Given the description of an element on the screen output the (x, y) to click on. 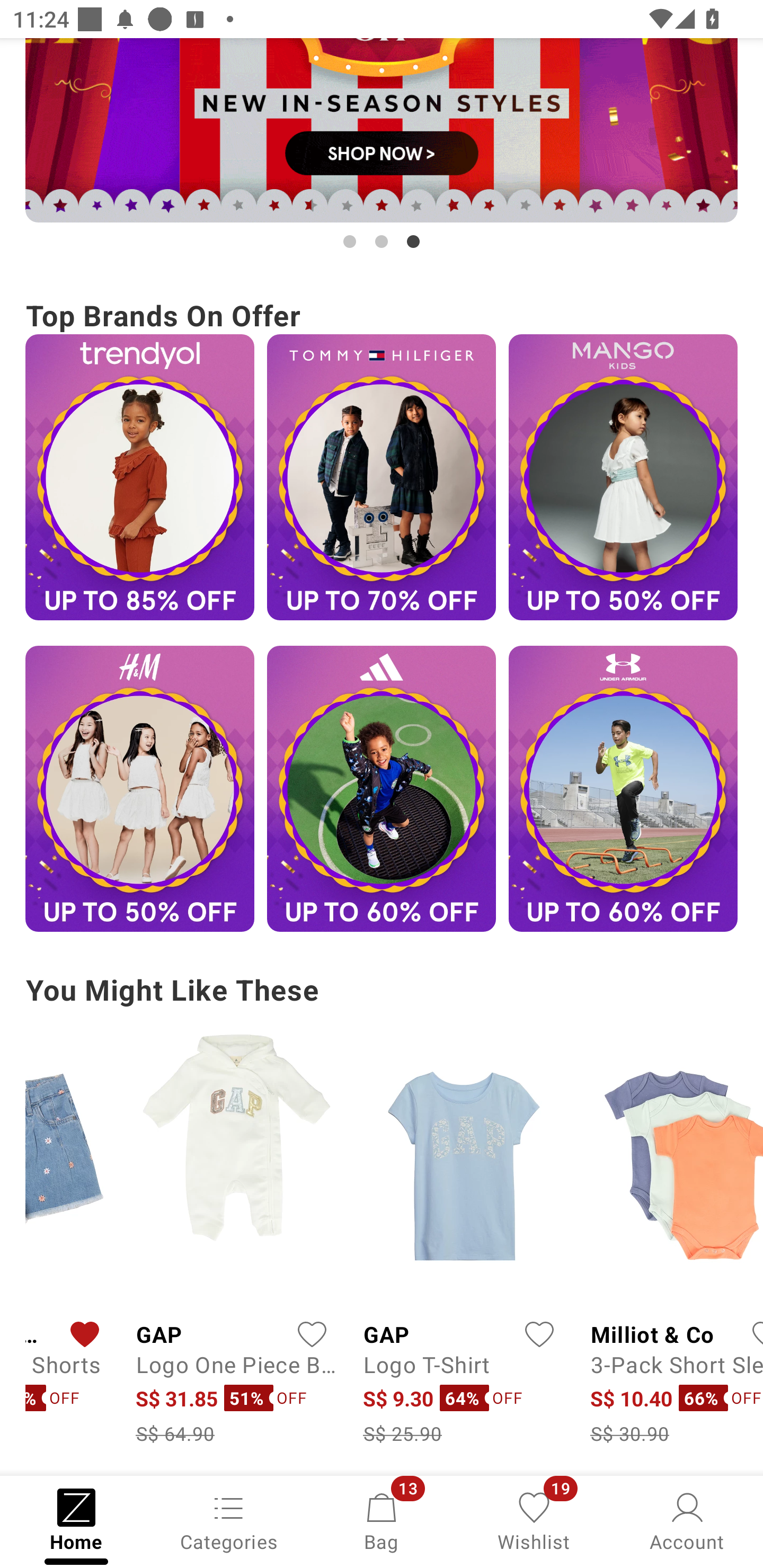
Campaign banner (381, 129)
Campaign banner (139, 476)
Campaign banner (381, 476)
Campaign banner (622, 476)
Campaign banner (139, 788)
Campaign banner (381, 788)
Campaign banner (622, 788)
Categories (228, 1519)
Bag, 13 new notifications Bag (381, 1519)
Wishlist, 19 new notifications Wishlist (533, 1519)
Account (686, 1519)
